Given the description of an element on the screen output the (x, y) to click on. 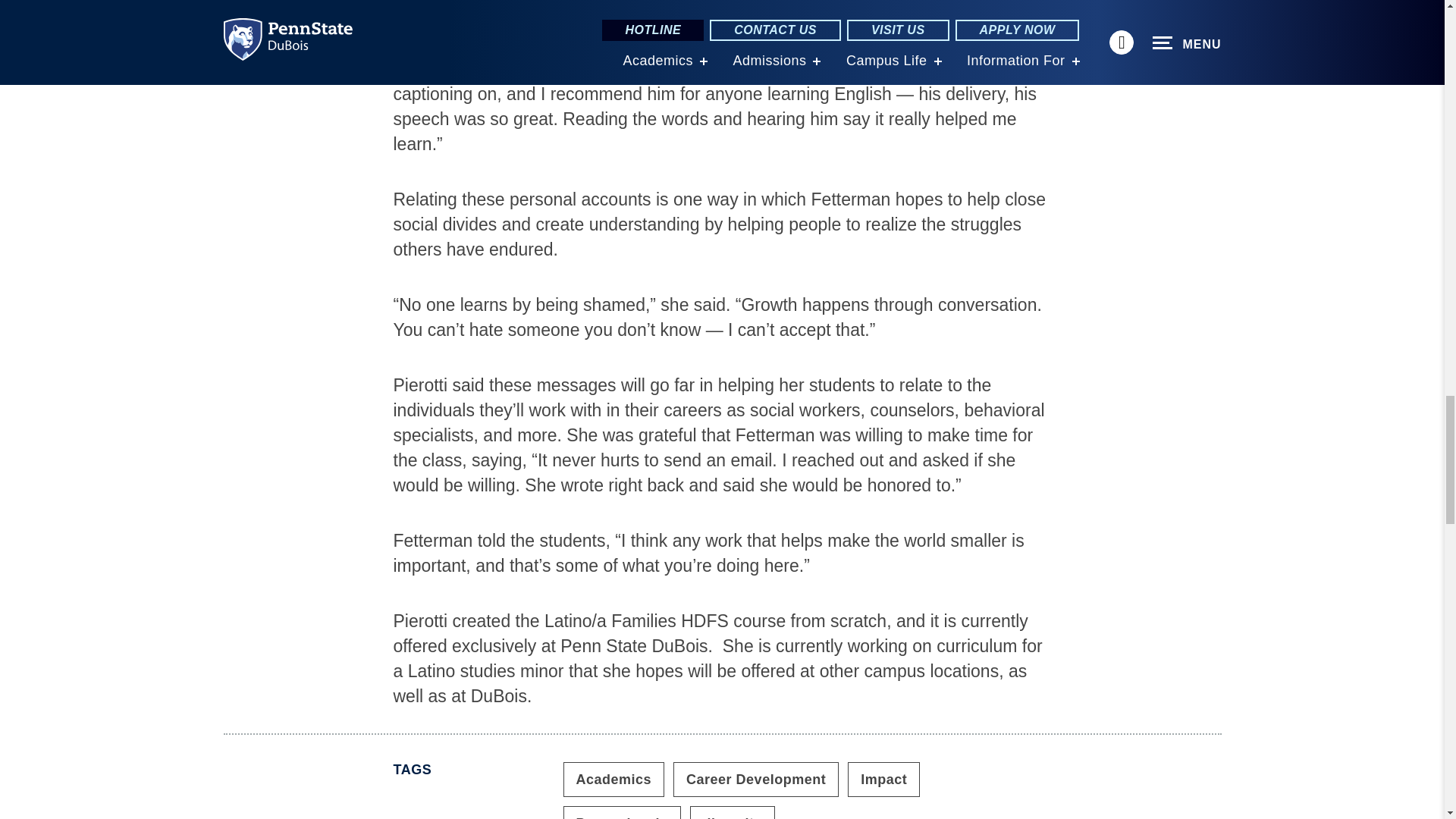
Content tagged with diversity (733, 812)
Content tagged with Pennsylvania (620, 812)
Content tagged with Impact (883, 779)
Content tagged with Career Development (755, 779)
Content tagged with Academics (612, 779)
